Given the description of an element on the screen output the (x, y) to click on. 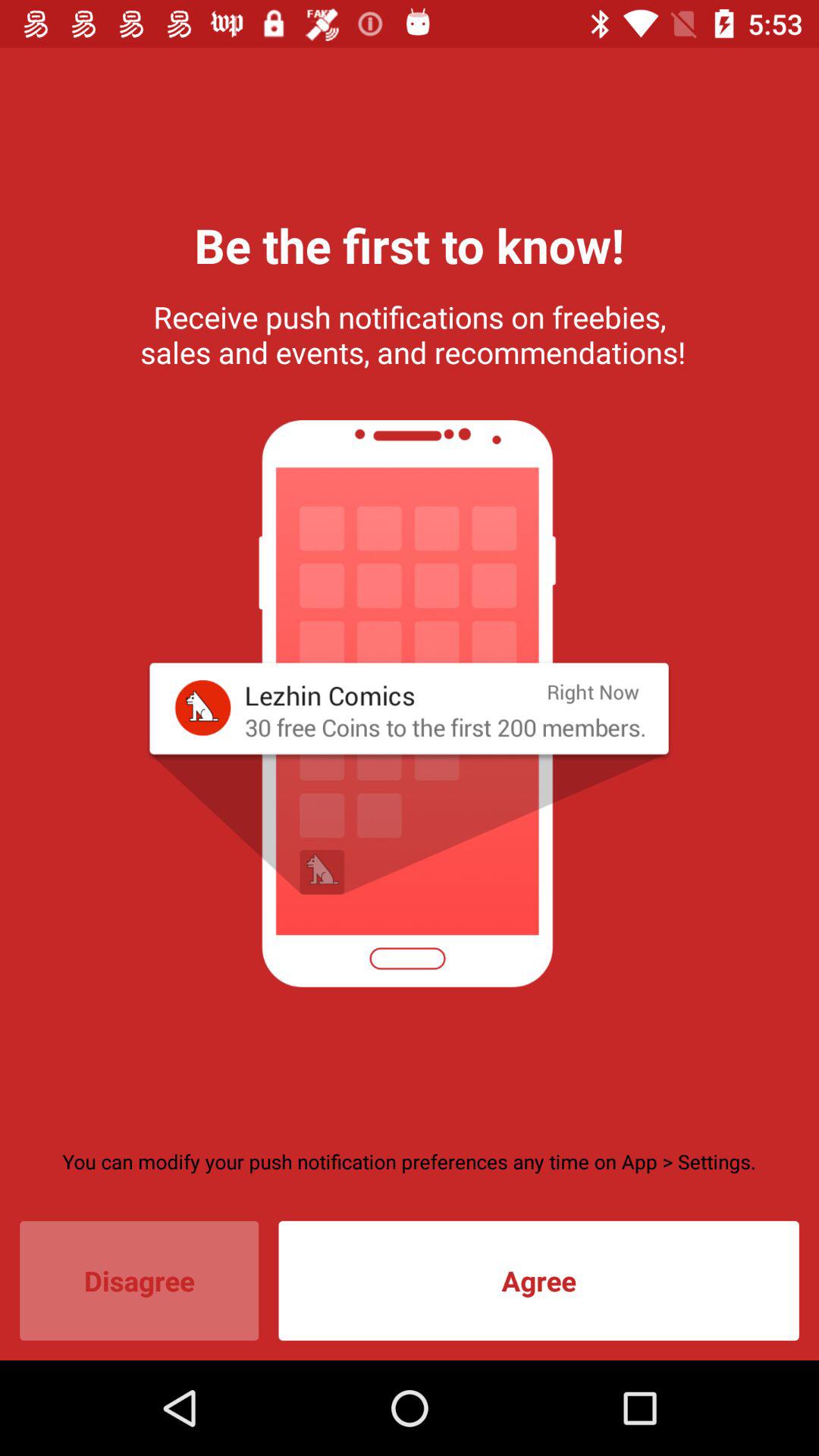
flip to disagree icon (138, 1280)
